Given the description of an element on the screen output the (x, y) to click on. 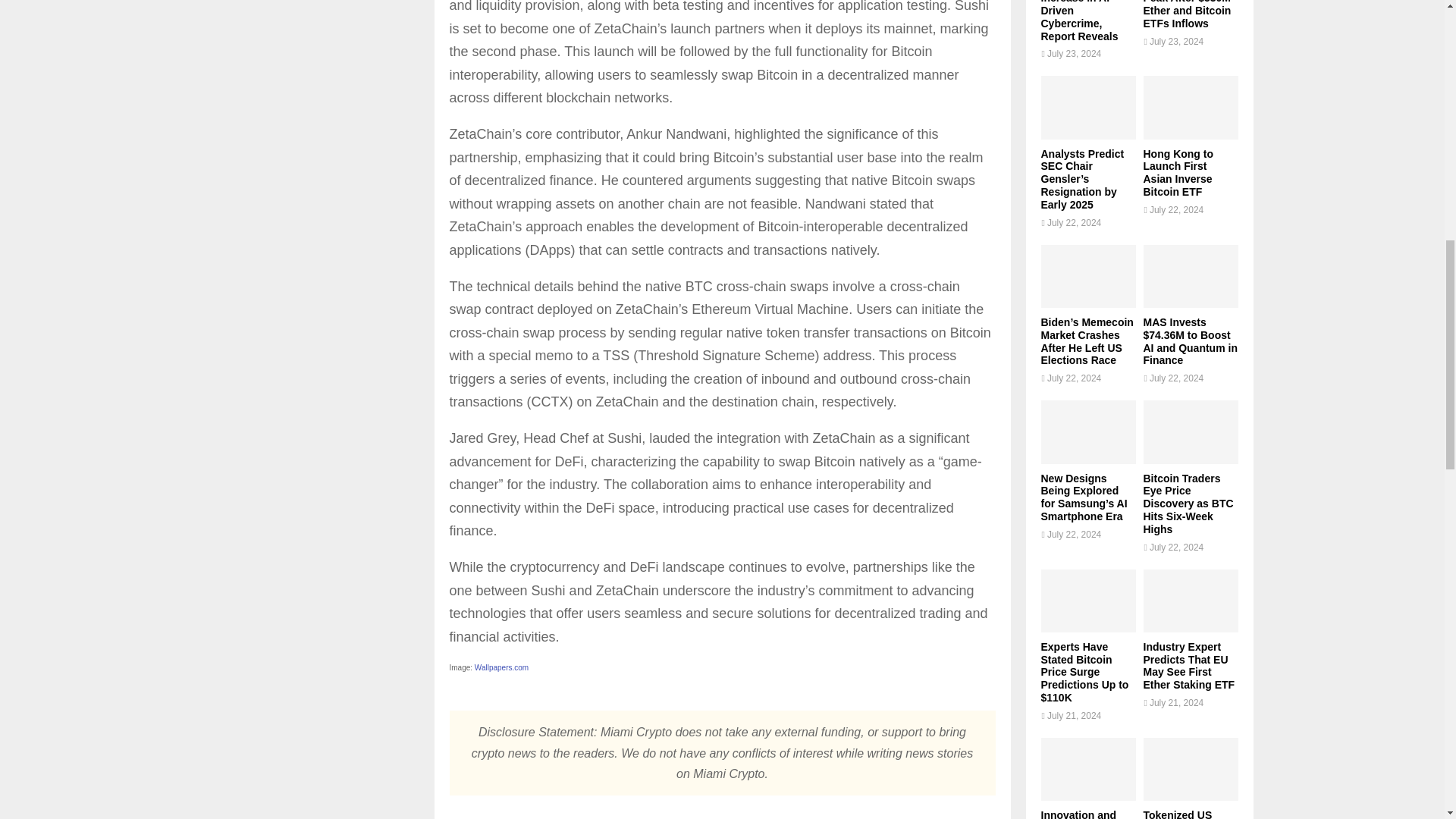
Wallpapers.com (501, 667)
